Given the description of an element on the screen output the (x, y) to click on. 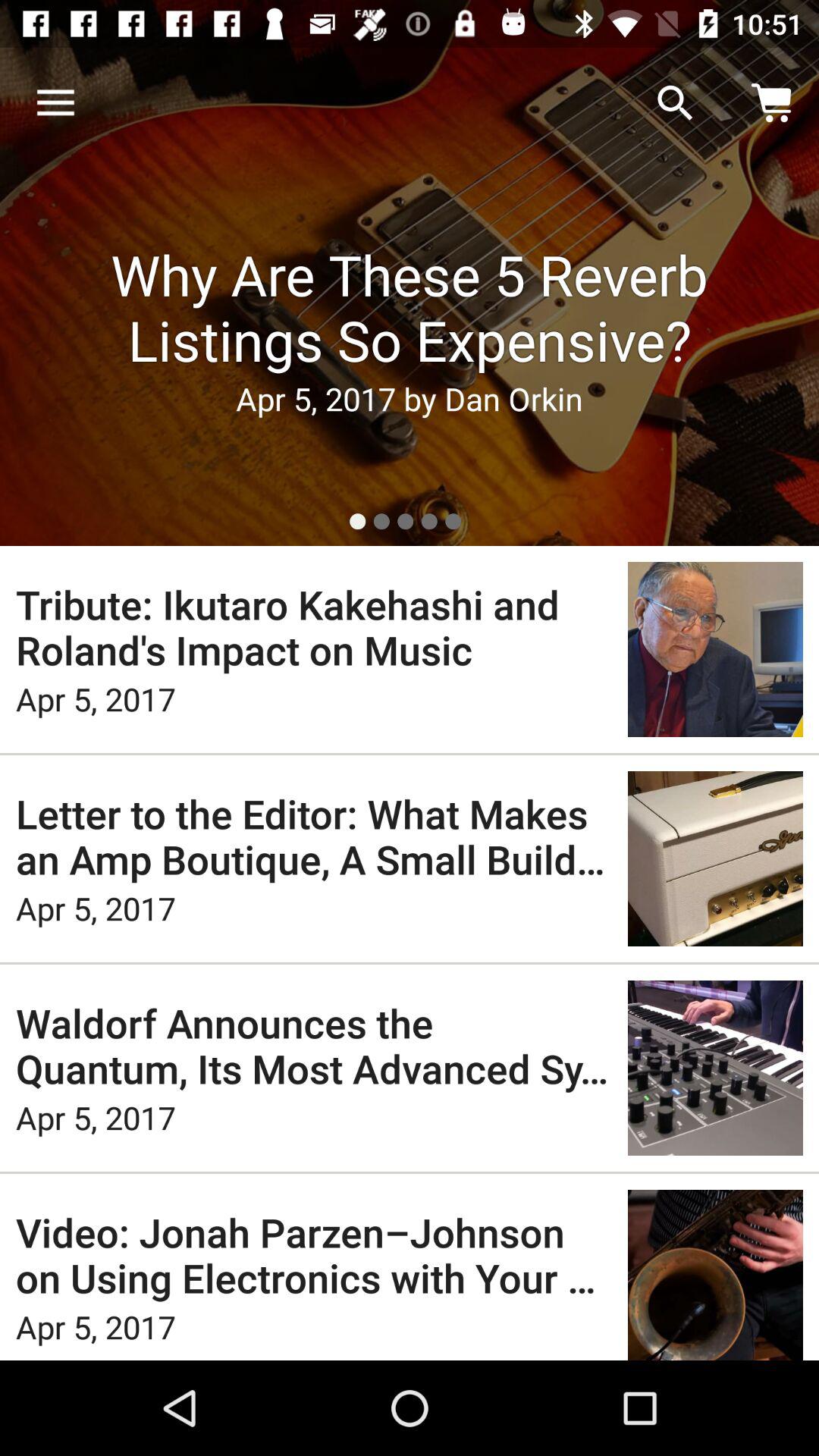
turn on item next to the news item (675, 103)
